Given the description of an element on the screen output the (x, y) to click on. 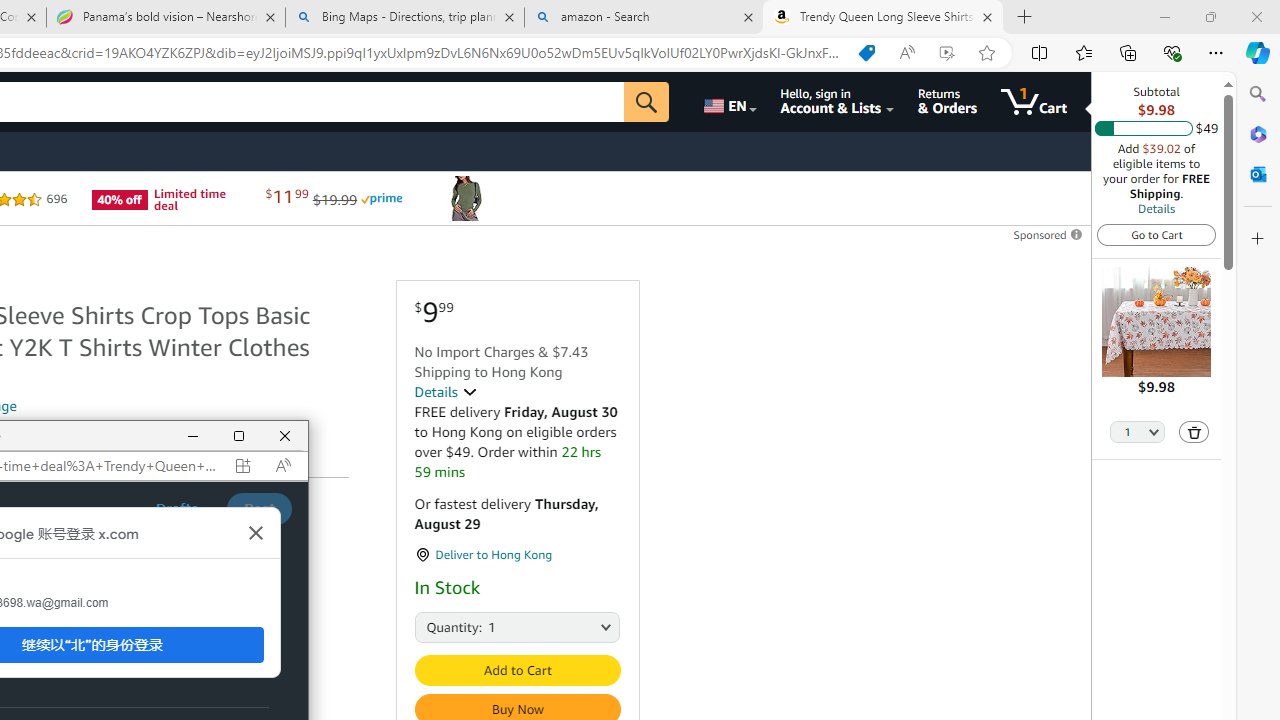
Add to Cart (516, 669)
Enhance video (946, 53)
Class: Bz112c Bz112c-r9oPif (255, 533)
Maximize (239, 436)
Drafts (177, 507)
Post (258, 507)
Hello, sign in Account & Lists (836, 101)
